Given the description of an element on the screen output the (x, y) to click on. 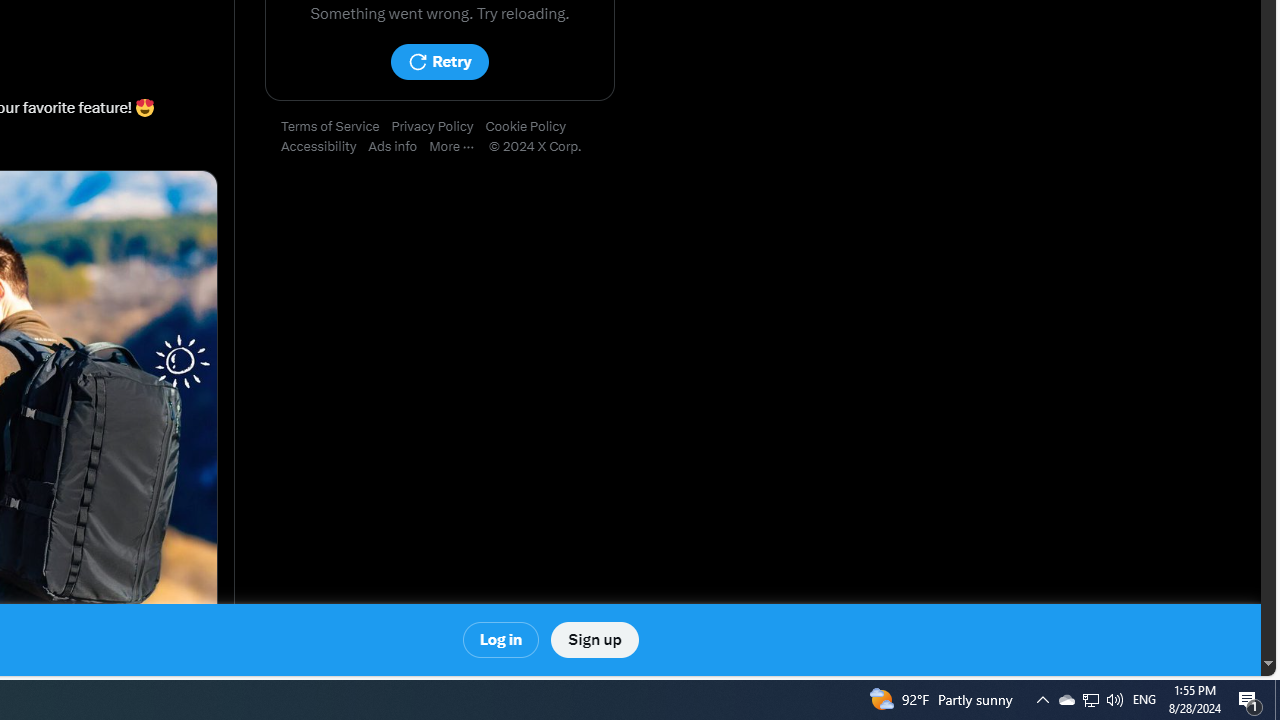
Retry (439, 61)
Cookie Policy (531, 127)
Sign up (594, 640)
Ads info (399, 147)
Terms of Service (336, 127)
Accessibility (324, 147)
Privacy Policy (438, 127)
Log in (501, 640)
